Given the description of an element on the screen output the (x, y) to click on. 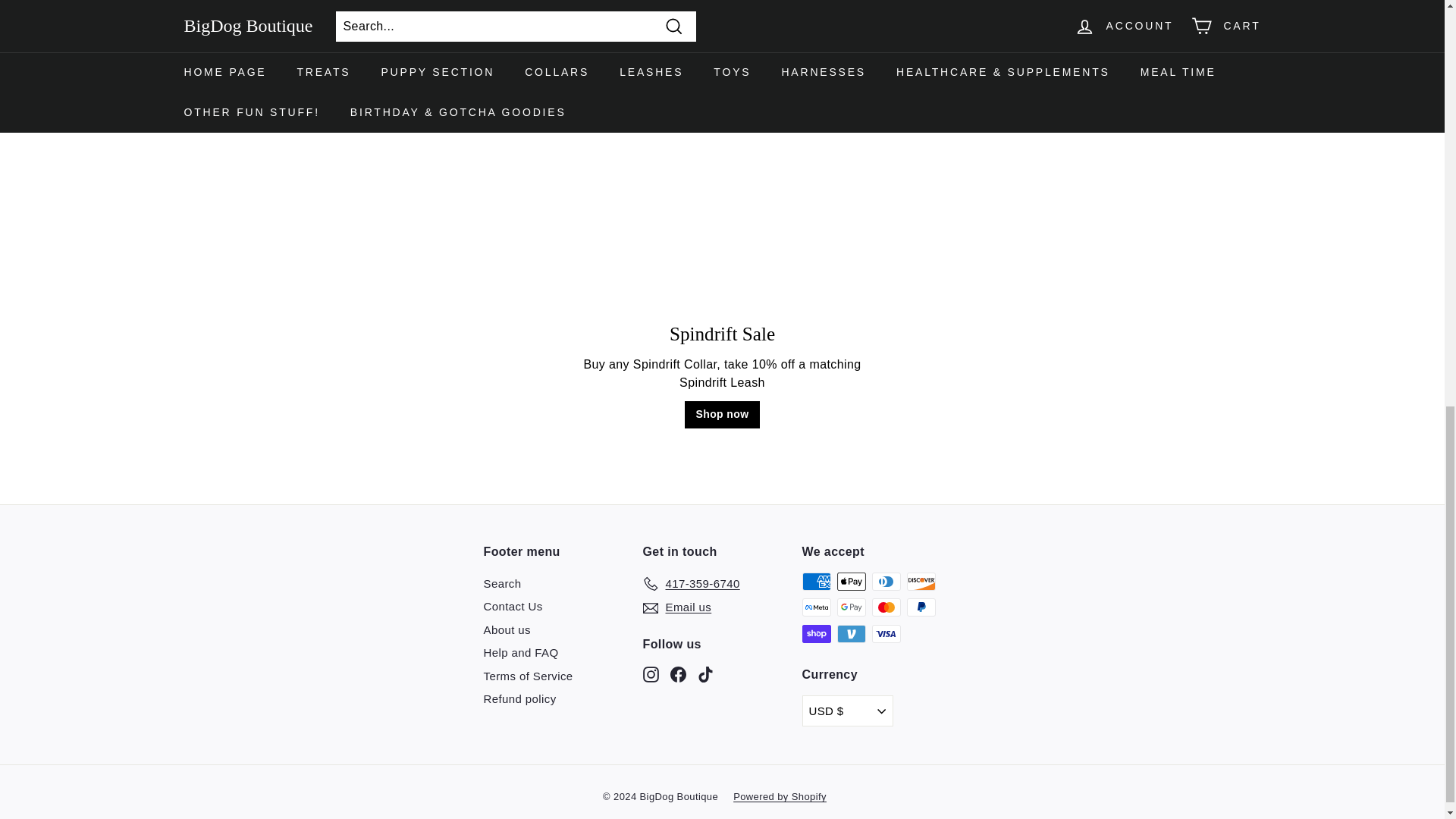
BigDog Boutique on Facebook (677, 673)
Diners Club (886, 581)
BigDog Boutique on Instagram (651, 673)
BigDog Boutique on TikTok (705, 673)
American Express (816, 581)
Discover (921, 581)
Apple Pay (851, 581)
